Given the description of an element on the screen output the (x, y) to click on. 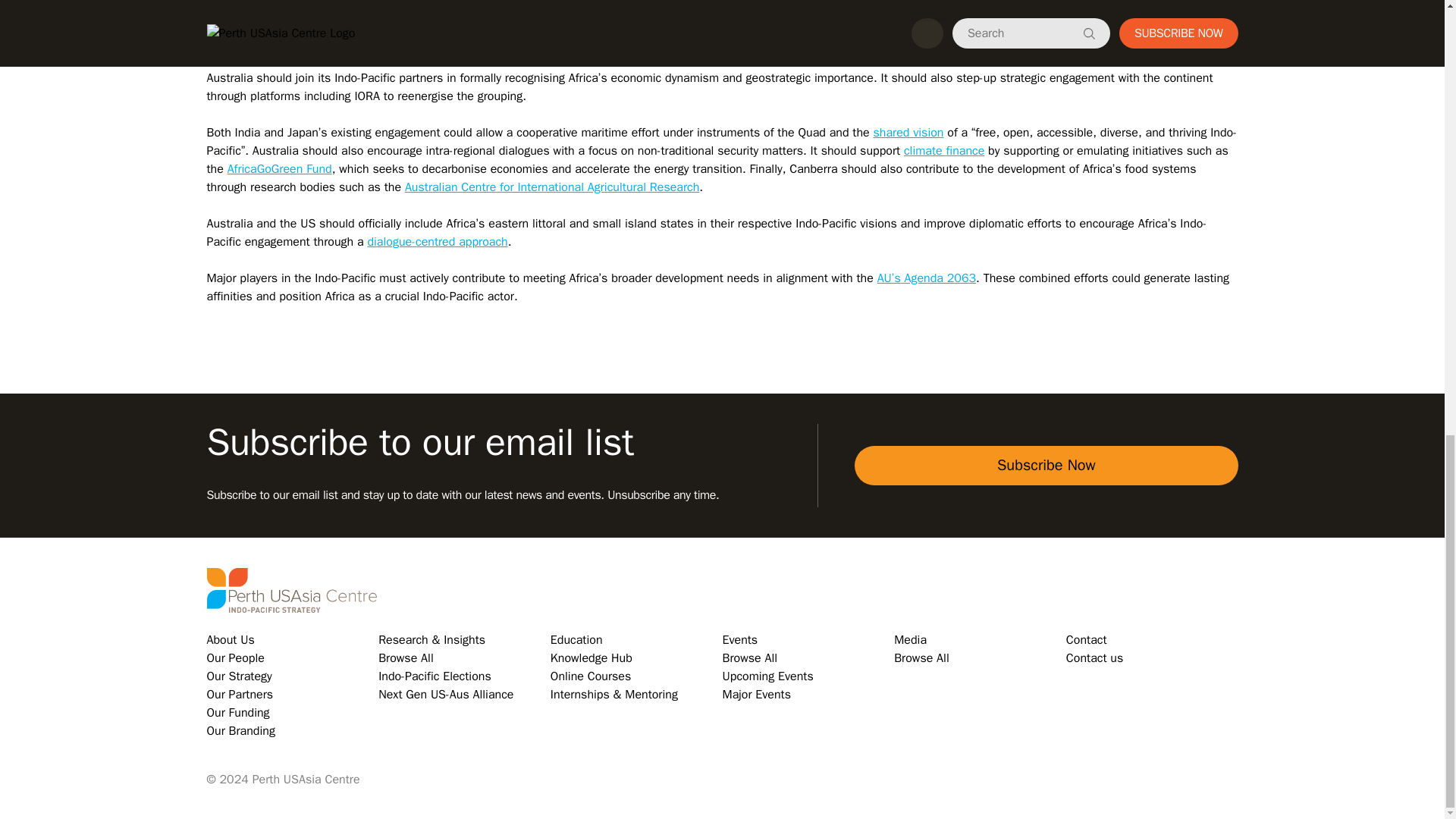
Australian Centre for International Agricultural Research (551, 186)
middle class (761, 23)
dialogue-centred approach (436, 241)
trade coercion (800, 41)
food consumption trends (1047, 23)
shared vision (908, 132)
Our People (234, 657)
About Us (229, 639)
AfricaGoGreen Fund (279, 168)
climate finance (944, 150)
